Given the description of an element on the screen output the (x, y) to click on. 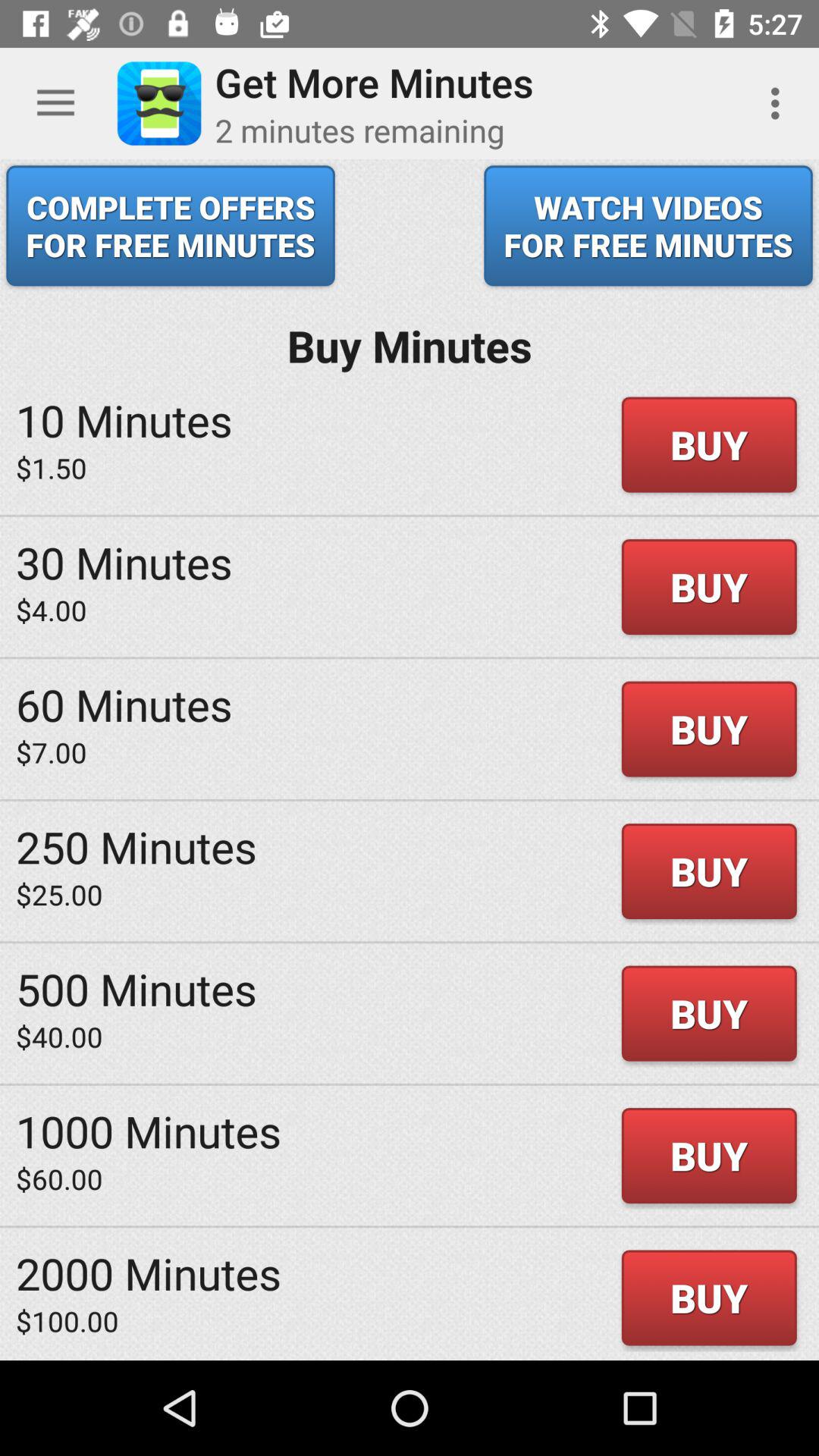
open the icon below $25.00 icon (136, 988)
